Given the description of an element on the screen output the (x, y) to click on. 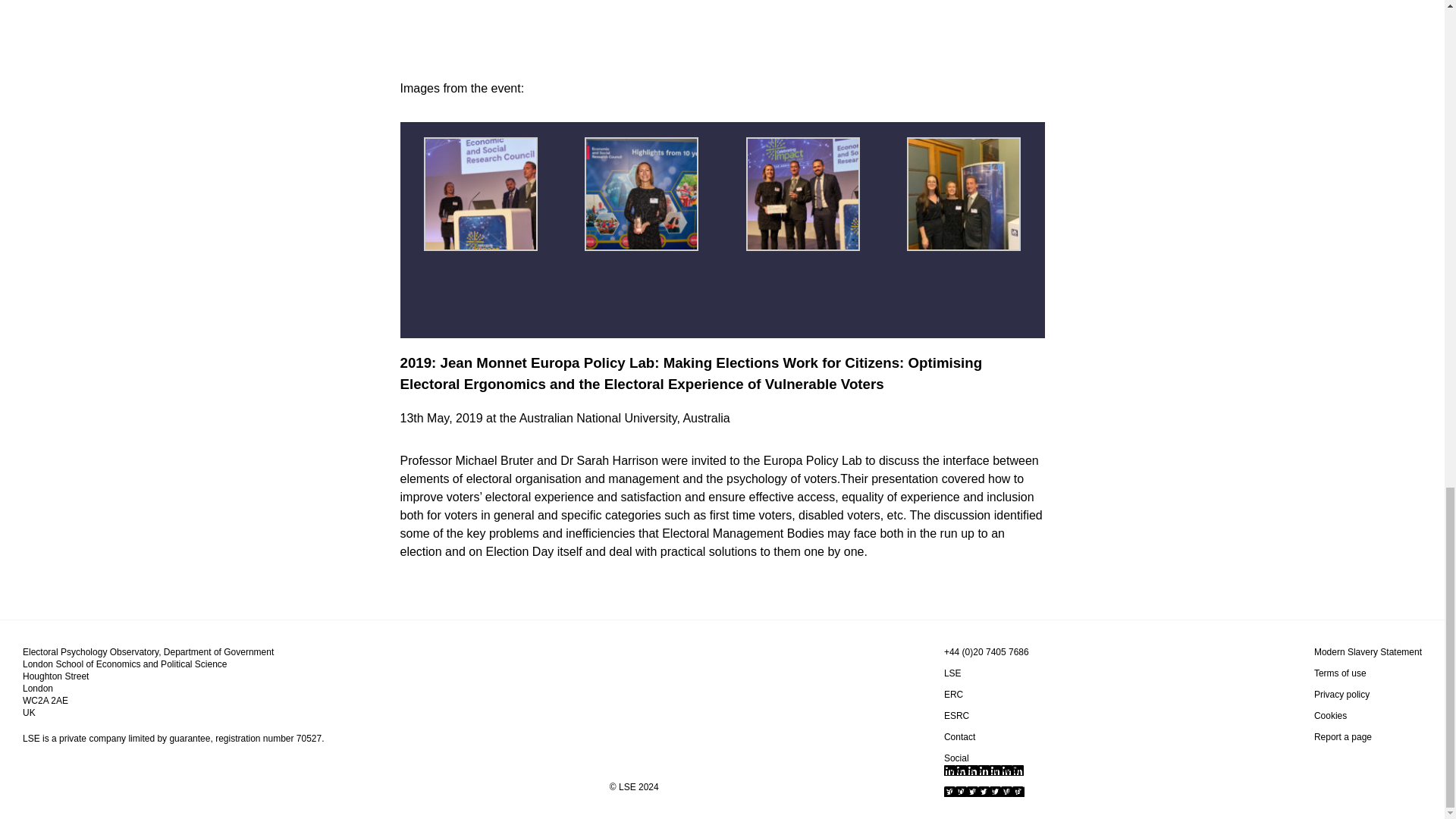
Follow us on Twitter (984, 791)
Find us on LinkedIn (983, 769)
LSE (951, 673)
ESRC (956, 715)
Contact (959, 737)
Modern Slavery Statement (1368, 652)
Social (956, 757)
ERC (952, 694)
